Given the description of an element on the screen output the (x, y) to click on. 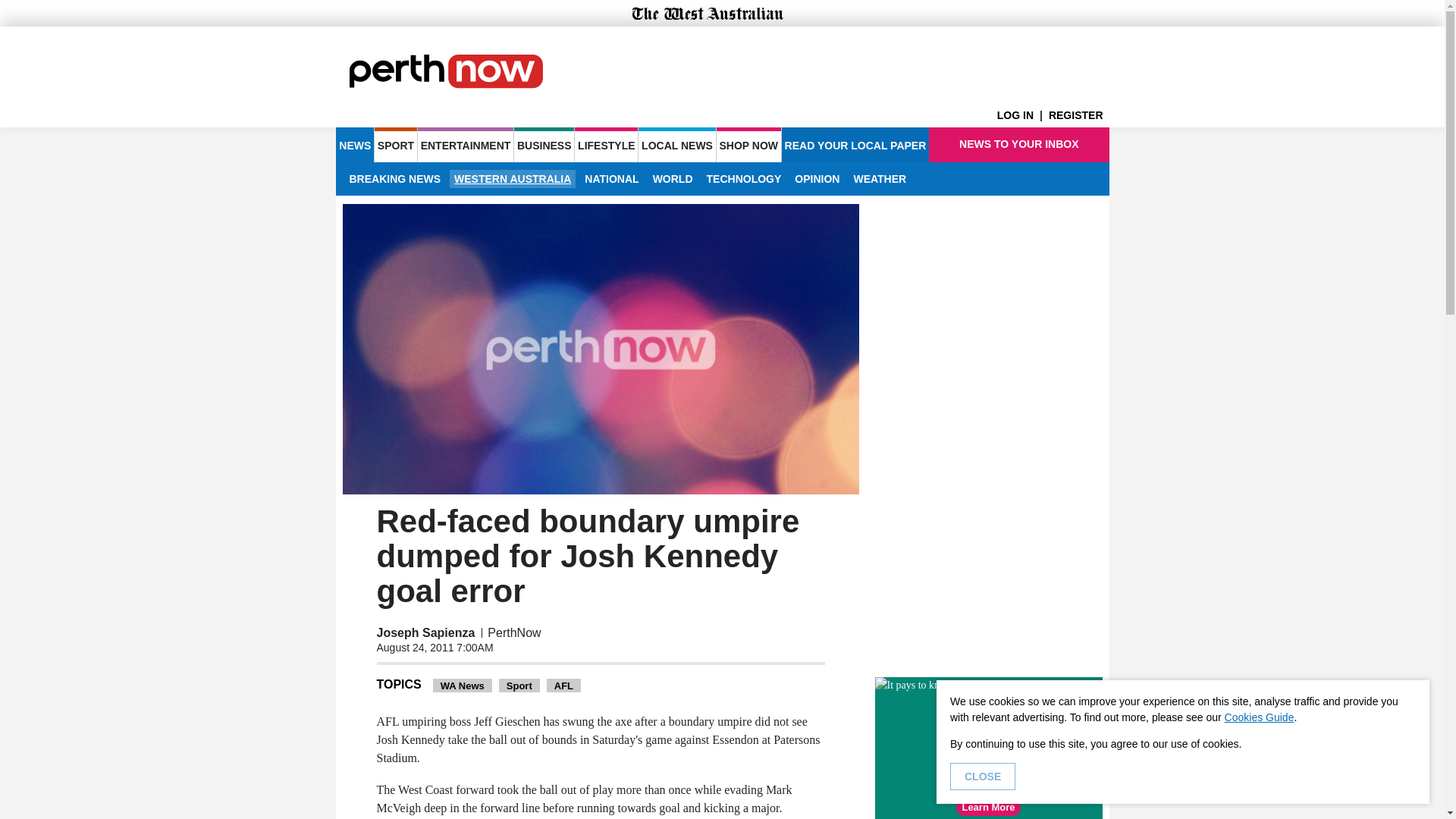
SPORT (395, 144)
LOG IN (1022, 115)
REGISTER (1078, 115)
ENTERTAINMENT (465, 144)
NEWS (354, 144)
